Given the description of an element on the screen output the (x, y) to click on. 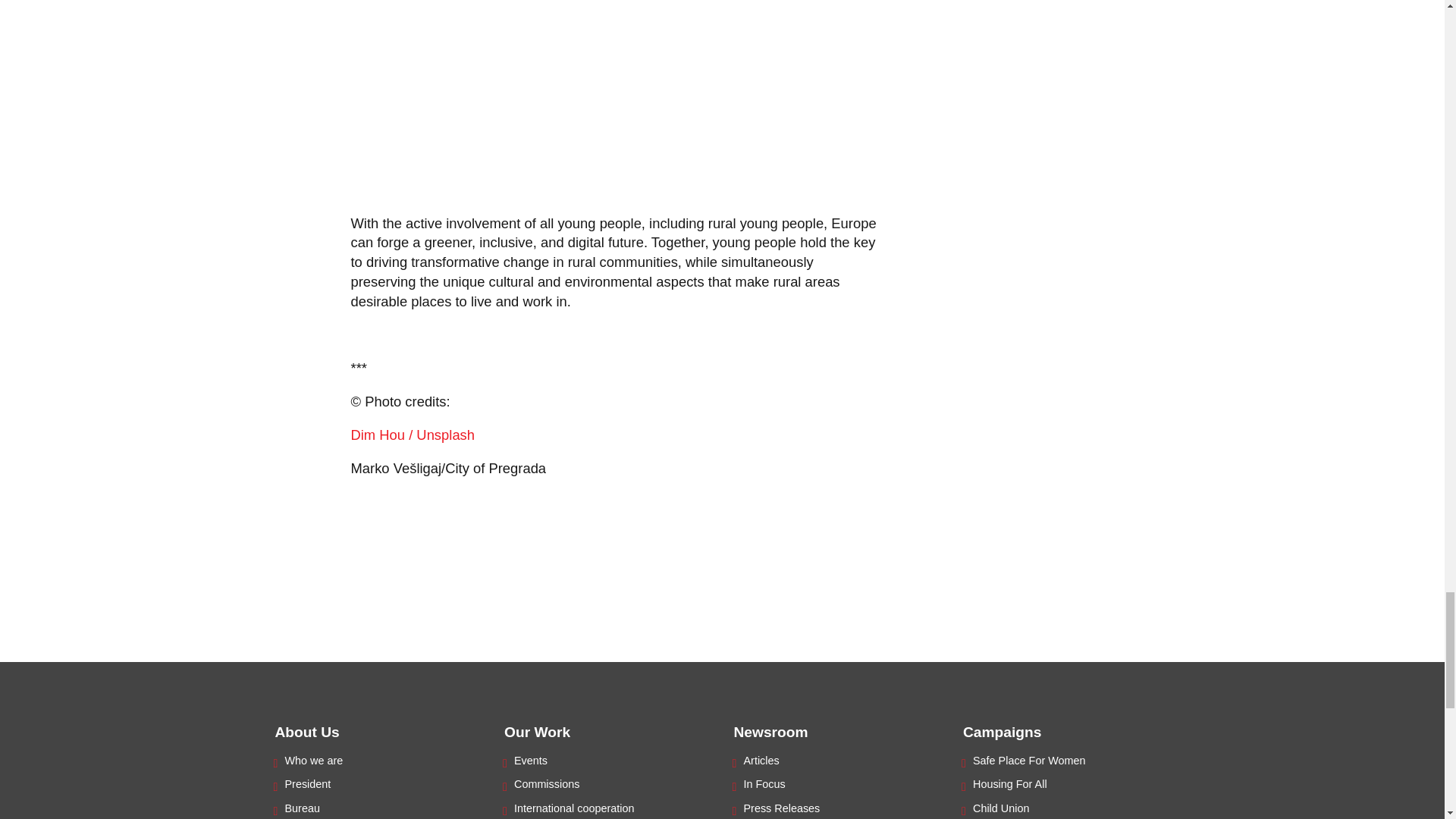
Expand menu Our Work (536, 731)
Expand menu Newsroom (770, 731)
Expand menu About Us (307, 731)
Expand menu Campaigns (1001, 731)
